Given the description of an element on the screen output the (x, y) to click on. 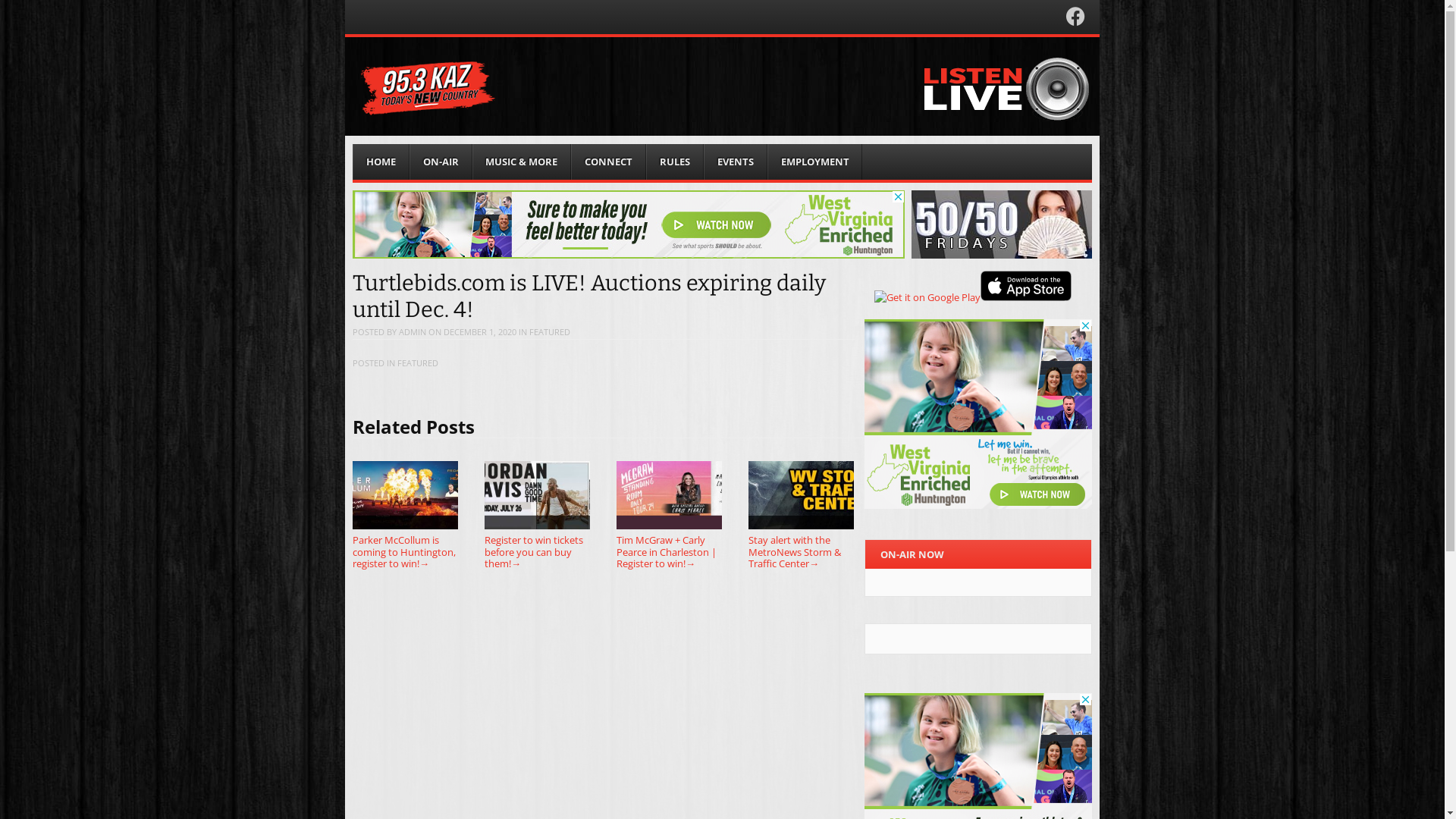
ADMIN Element type: text (412, 331)
Facebook Element type: text (1075, 19)
HOME Element type: text (380, 161)
RULES Element type: text (674, 161)
EVENTS Element type: text (735, 161)
MUSIC & MORE Element type: text (521, 161)
EMPLOYMENT Element type: text (814, 161)
3rd party ad content Element type: hover (628, 224)
ON-AIR Element type: text (440, 161)
FEATURED Element type: text (549, 331)
FEATURED Element type: text (417, 362)
3rd party ad content Element type: hover (978, 413)
CONNECT Element type: text (608, 161)
